Given the description of an element on the screen output the (x, y) to click on. 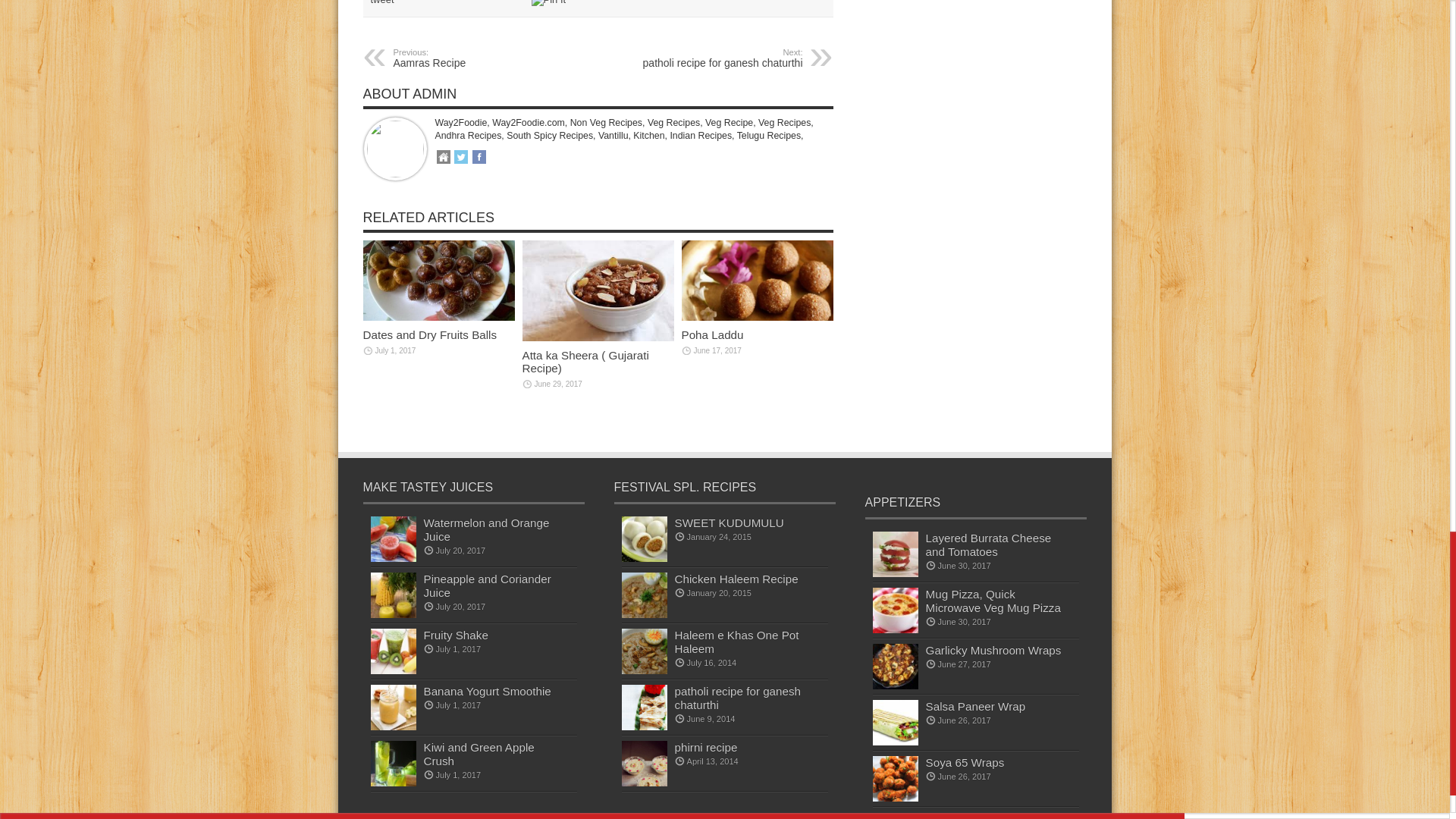
tweet (710, 57)
